Given the description of an element on the screen output the (x, y) to click on. 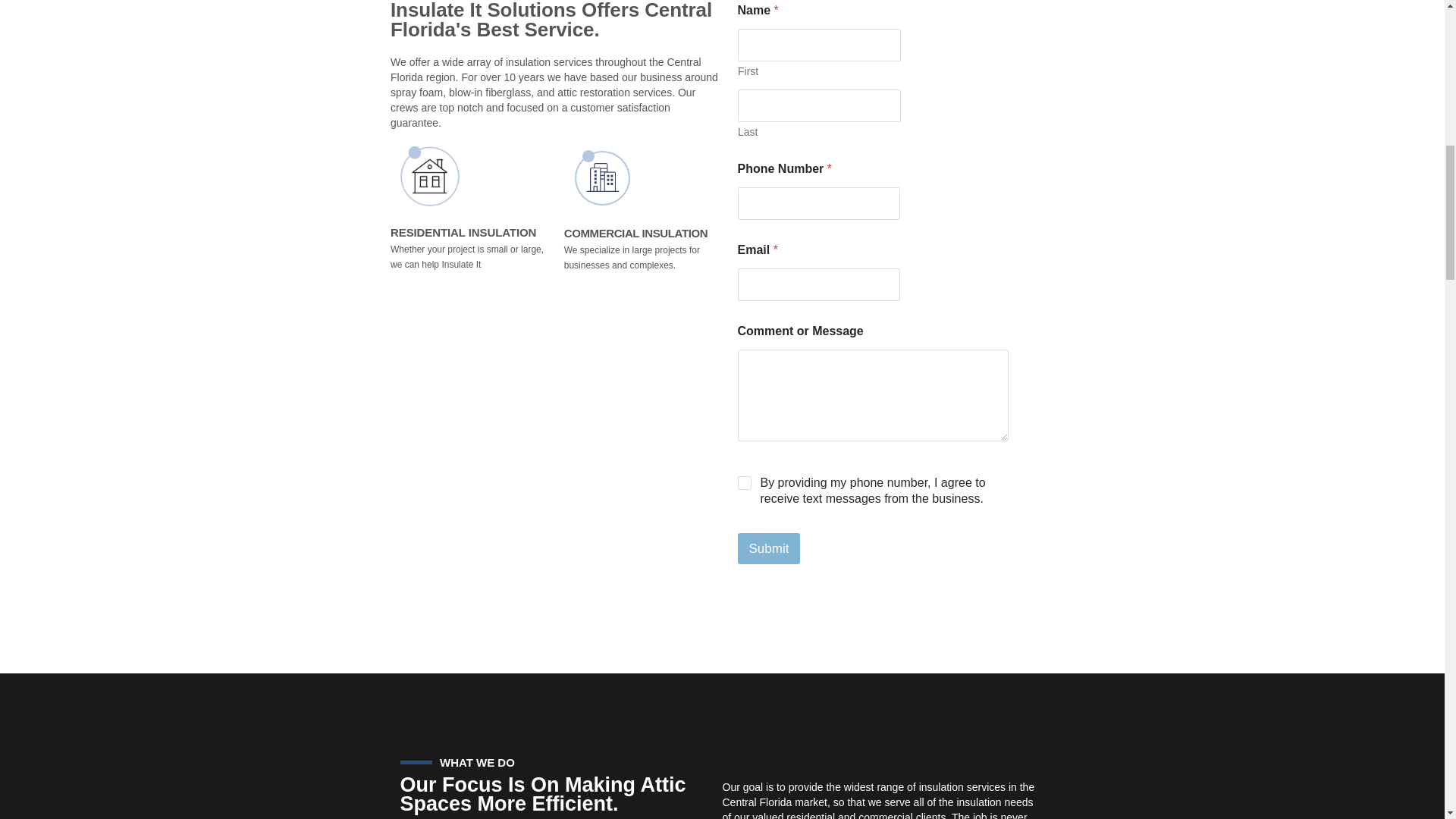
Submit (767, 548)
